Given the description of an element on the screen output the (x, y) to click on. 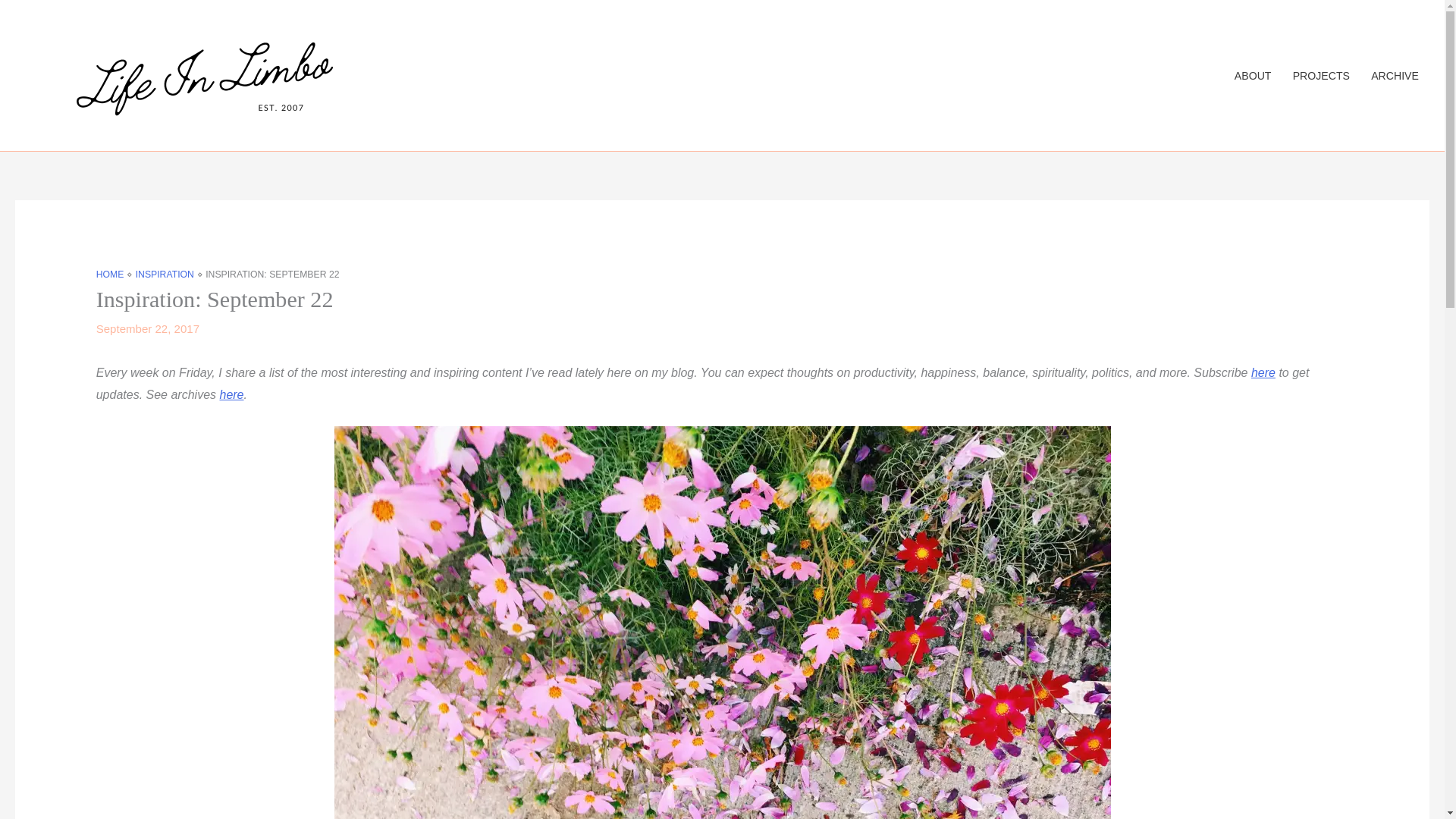
here (231, 394)
HOME (109, 274)
here (1262, 372)
ARCHIVE (1394, 75)
PROJECTS (1320, 75)
INSPIRATION (164, 274)
ABOUT (1253, 75)
